Given the description of an element on the screen output the (x, y) to click on. 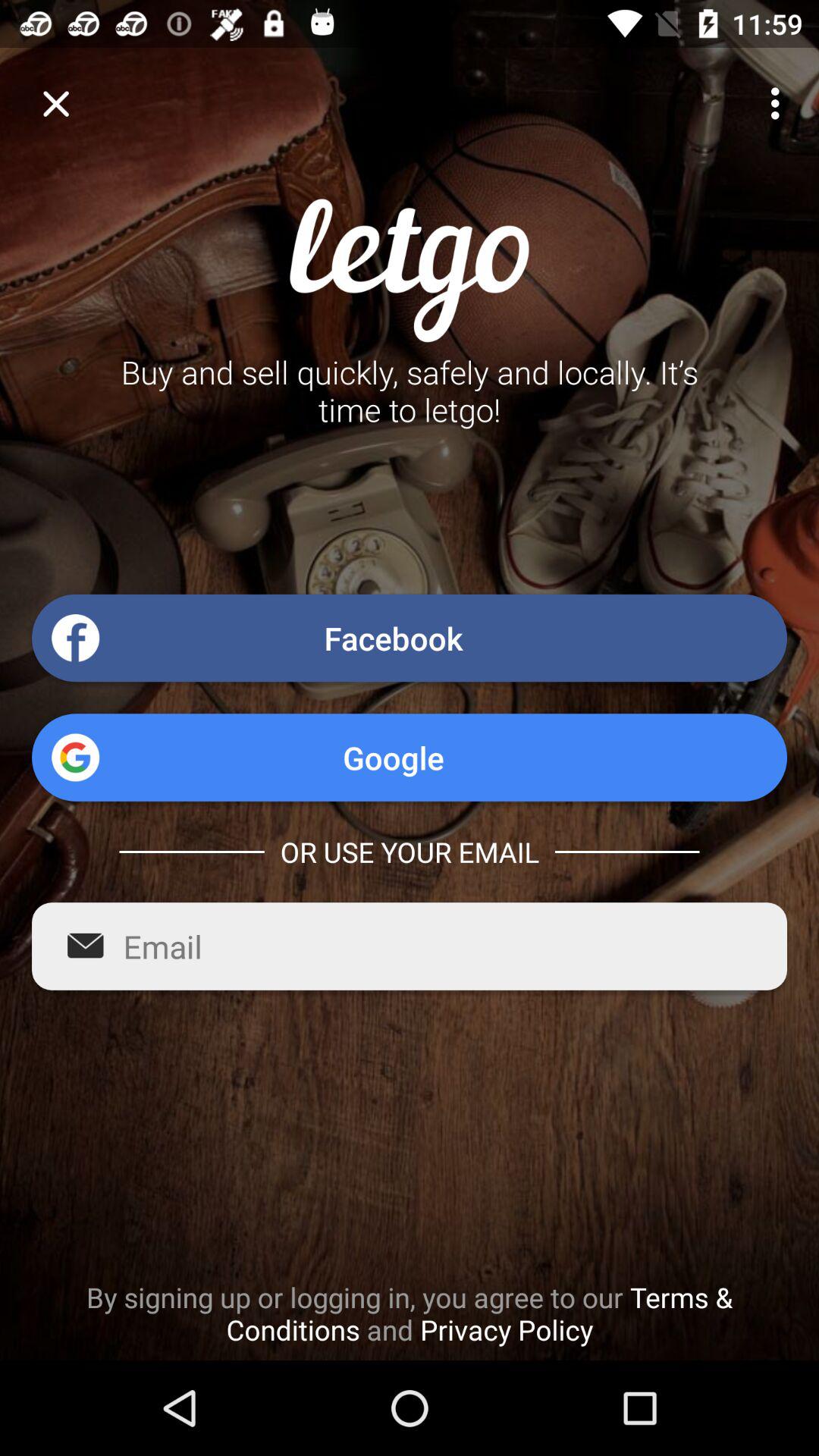
flip until the google (409, 757)
